Given the description of an element on the screen output the (x, y) to click on. 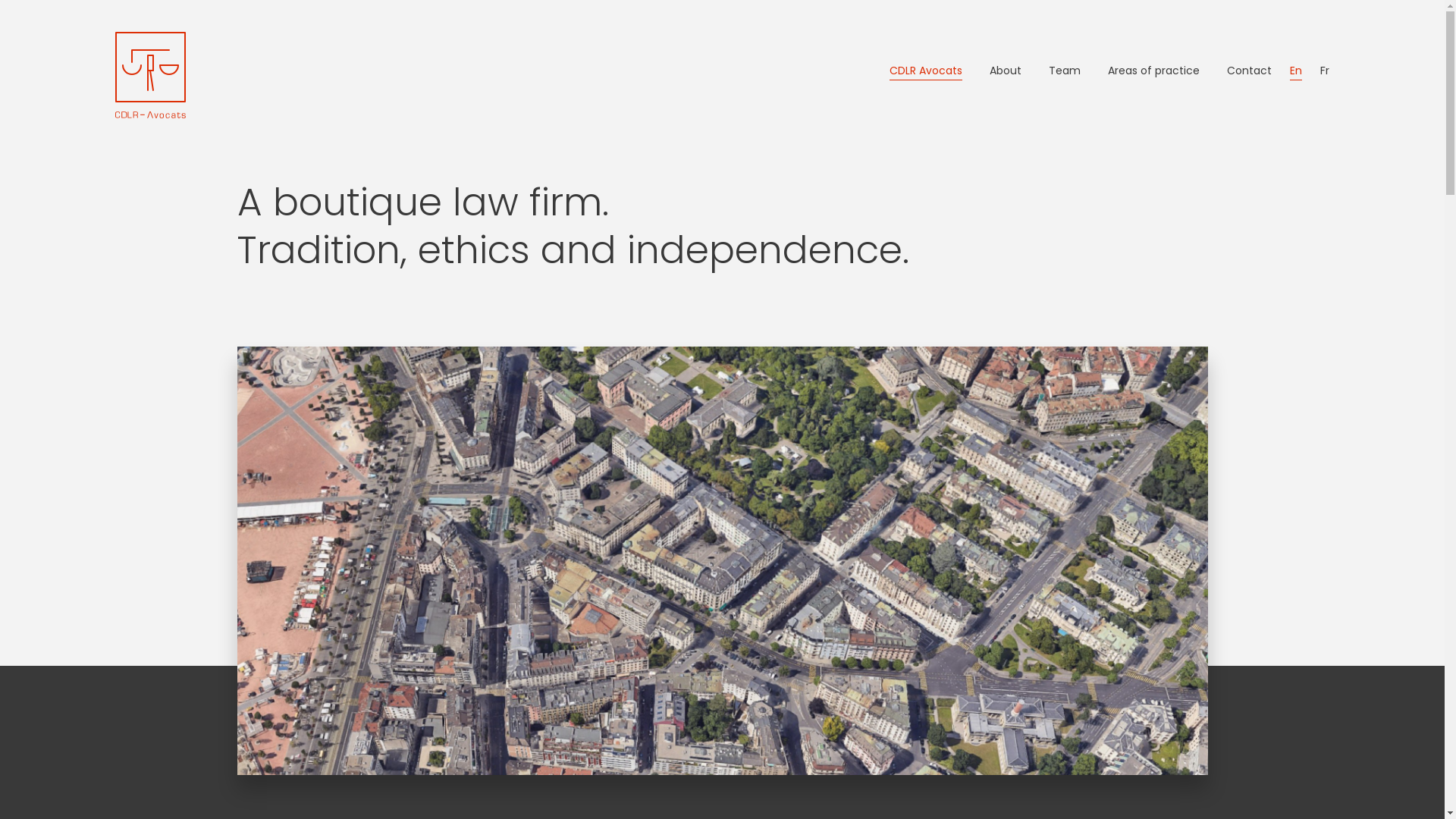
Team Element type: text (1064, 71)
Fr Element type: text (1324, 71)
About Element type: text (1005, 71)
Areas of practice Element type: text (1153, 71)
Contact Element type: text (1248, 71)
CDLR Avocats Element type: text (925, 71)
En Element type: text (1295, 71)
